Given the description of an element on the screen output the (x, y) to click on. 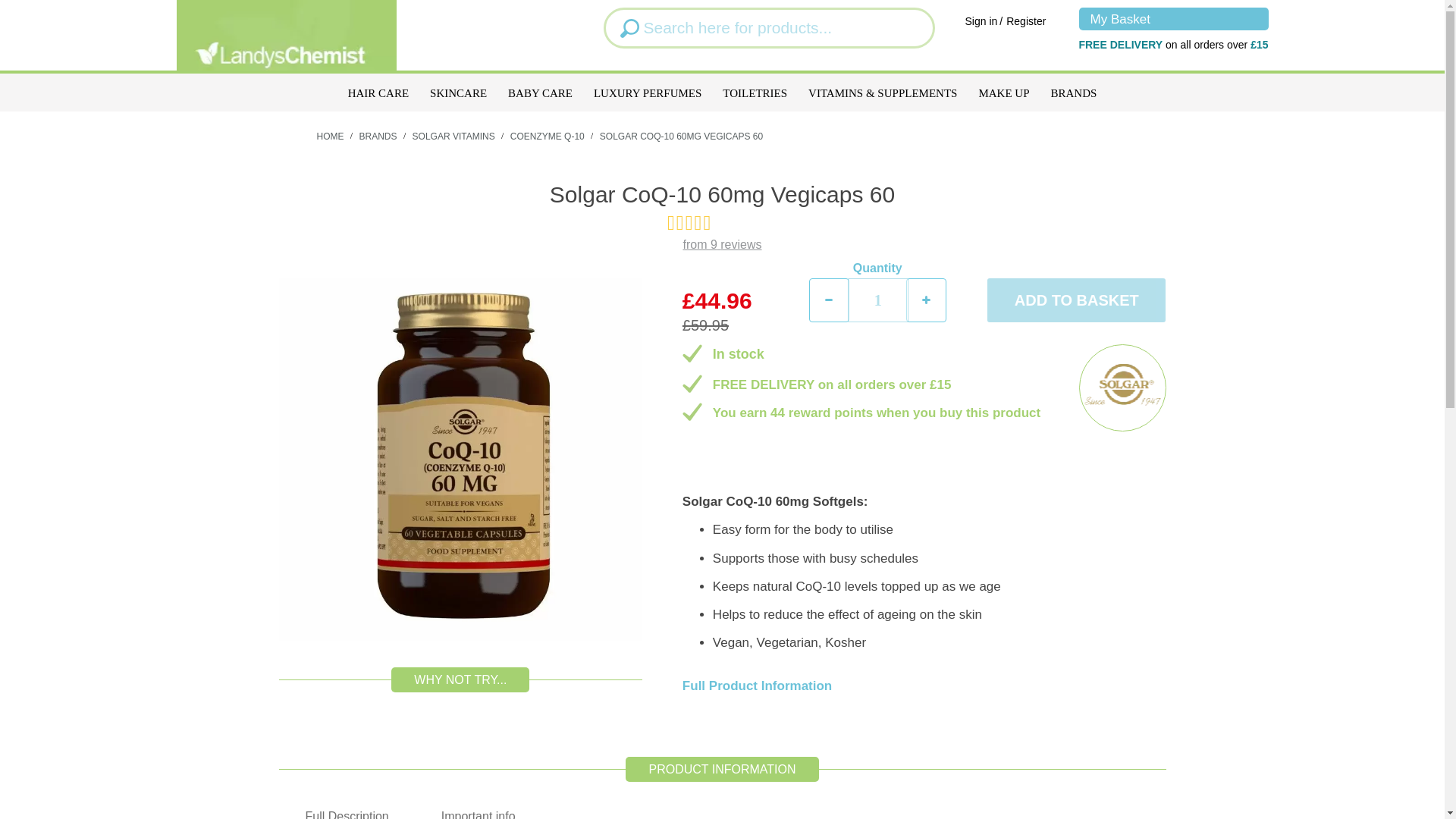
My Basket (1173, 18)
1 (877, 300)
Sign in (980, 21)
Register (1025, 21)
